Given the description of an element on the screen output the (x, y) to click on. 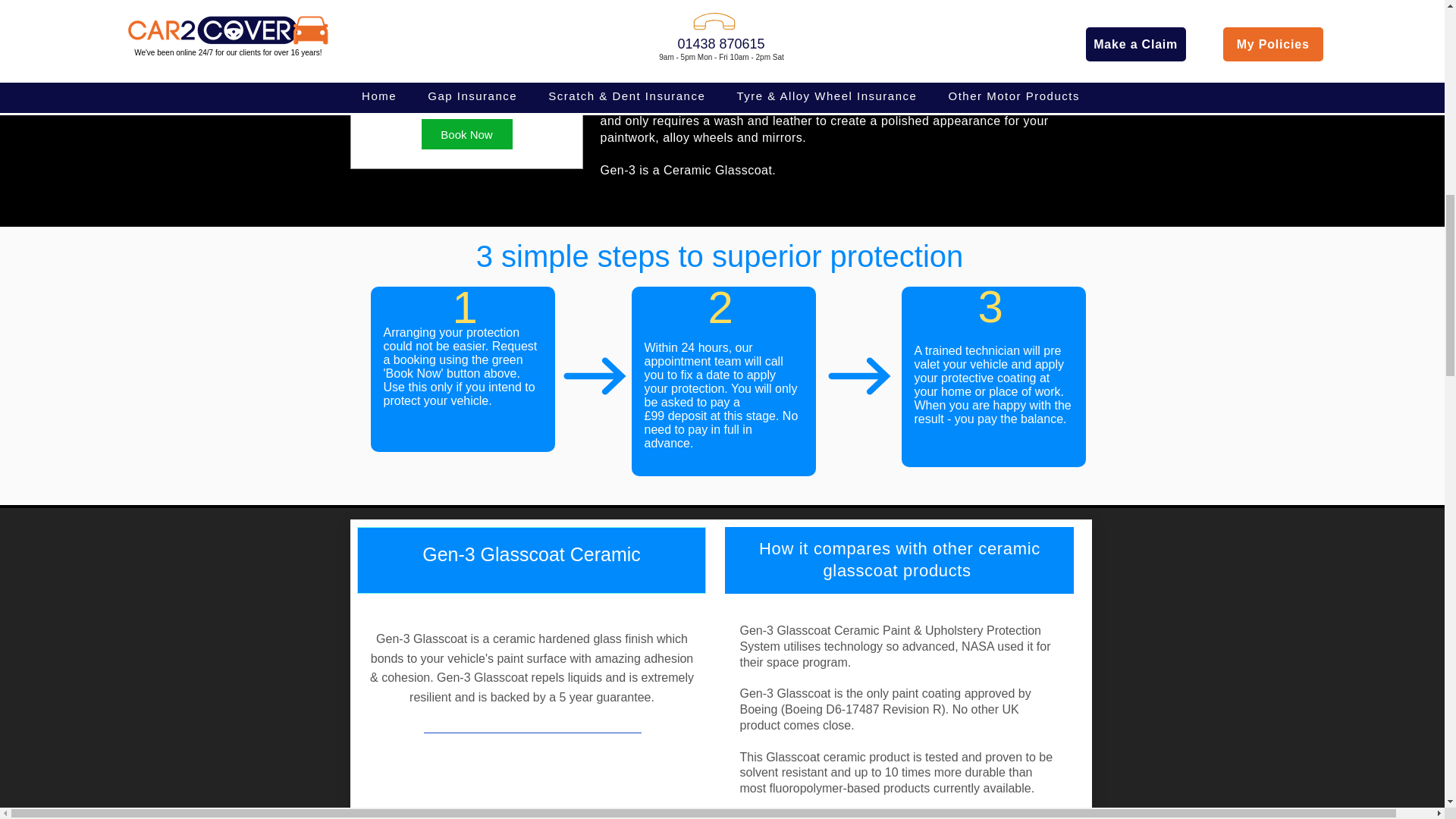
Book Now (467, 133)
